Given the description of an element on the screen output the (x, y) to click on. 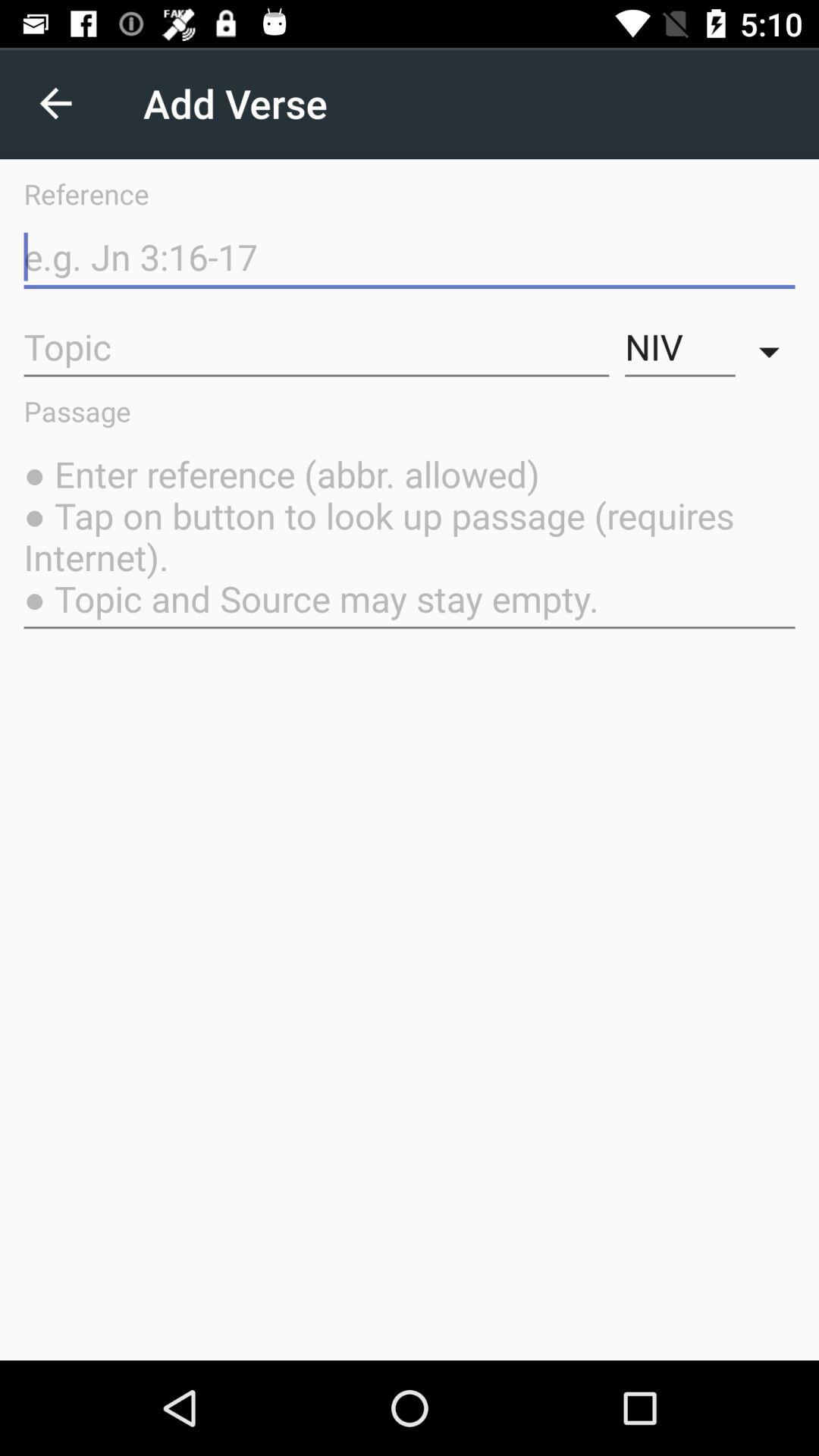
area to type in a bible verse (409, 257)
